Given the description of an element on the screen output the (x, y) to click on. 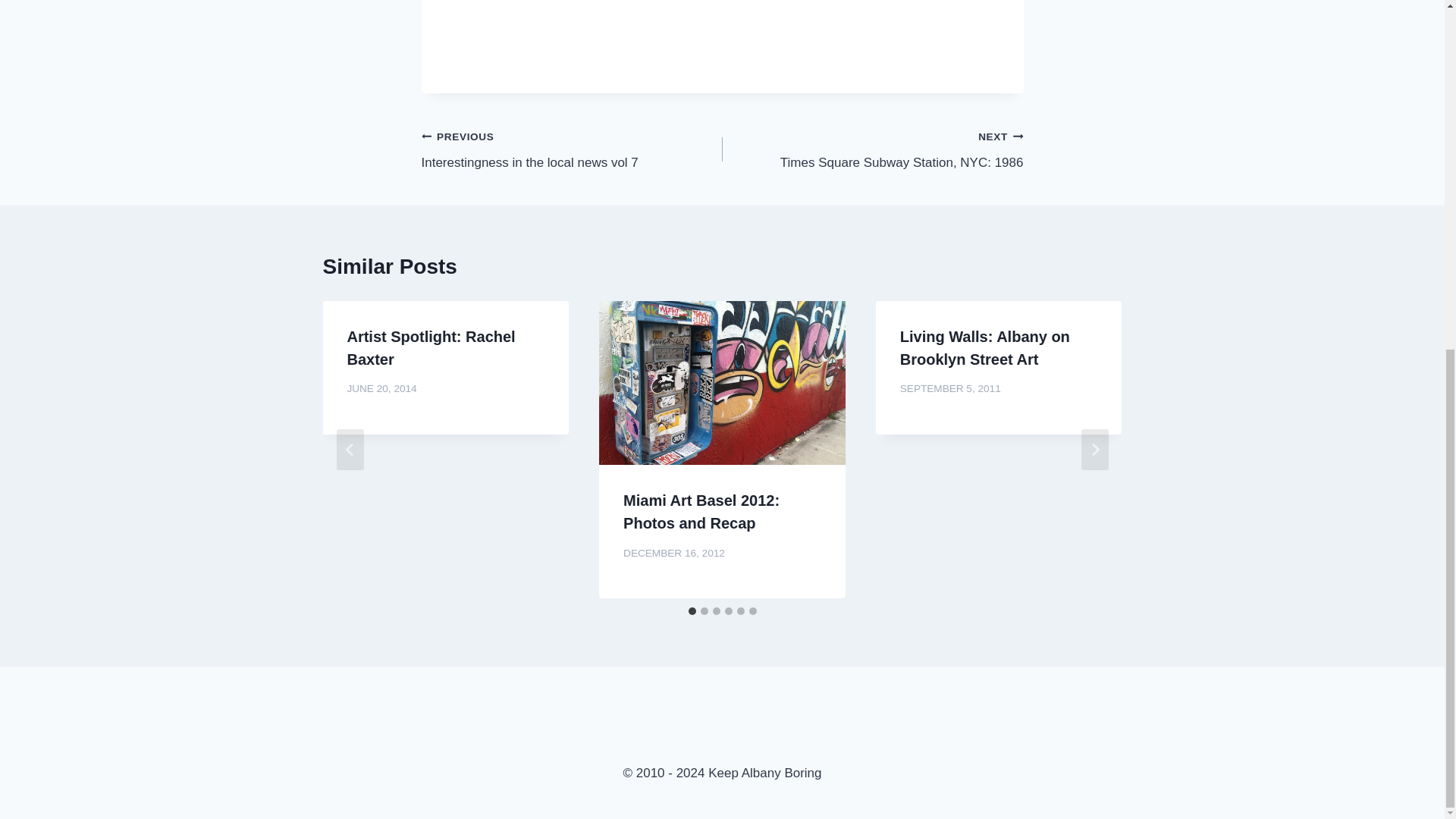
Artist Spotlight: Rachel Baxter (430, 347)
